Given the description of an element on the screen output the (x, y) to click on. 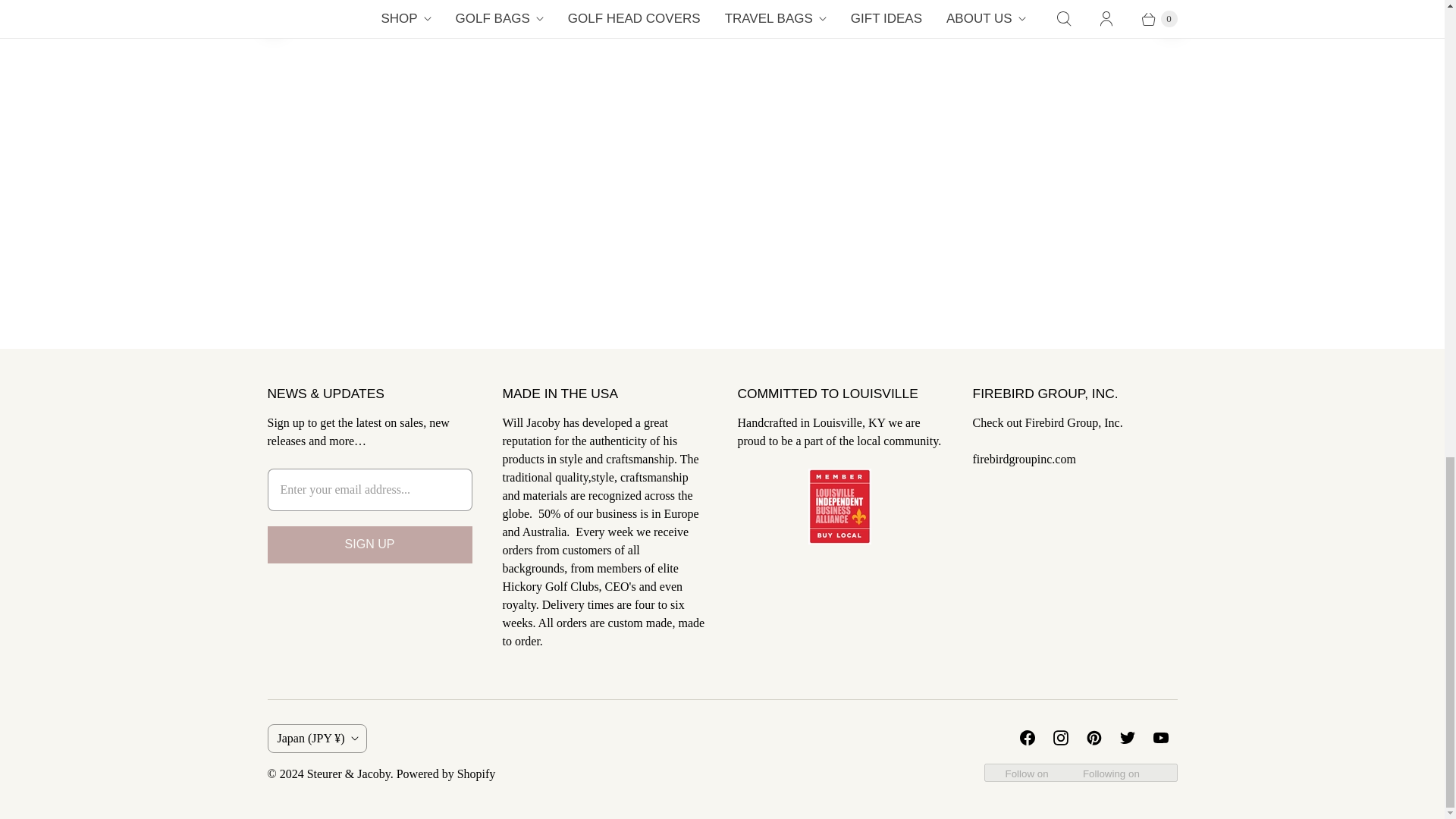
Keep Louisville Weird (839, 540)
Sign Up (368, 544)
